Given the description of an element on the screen output the (x, y) to click on. 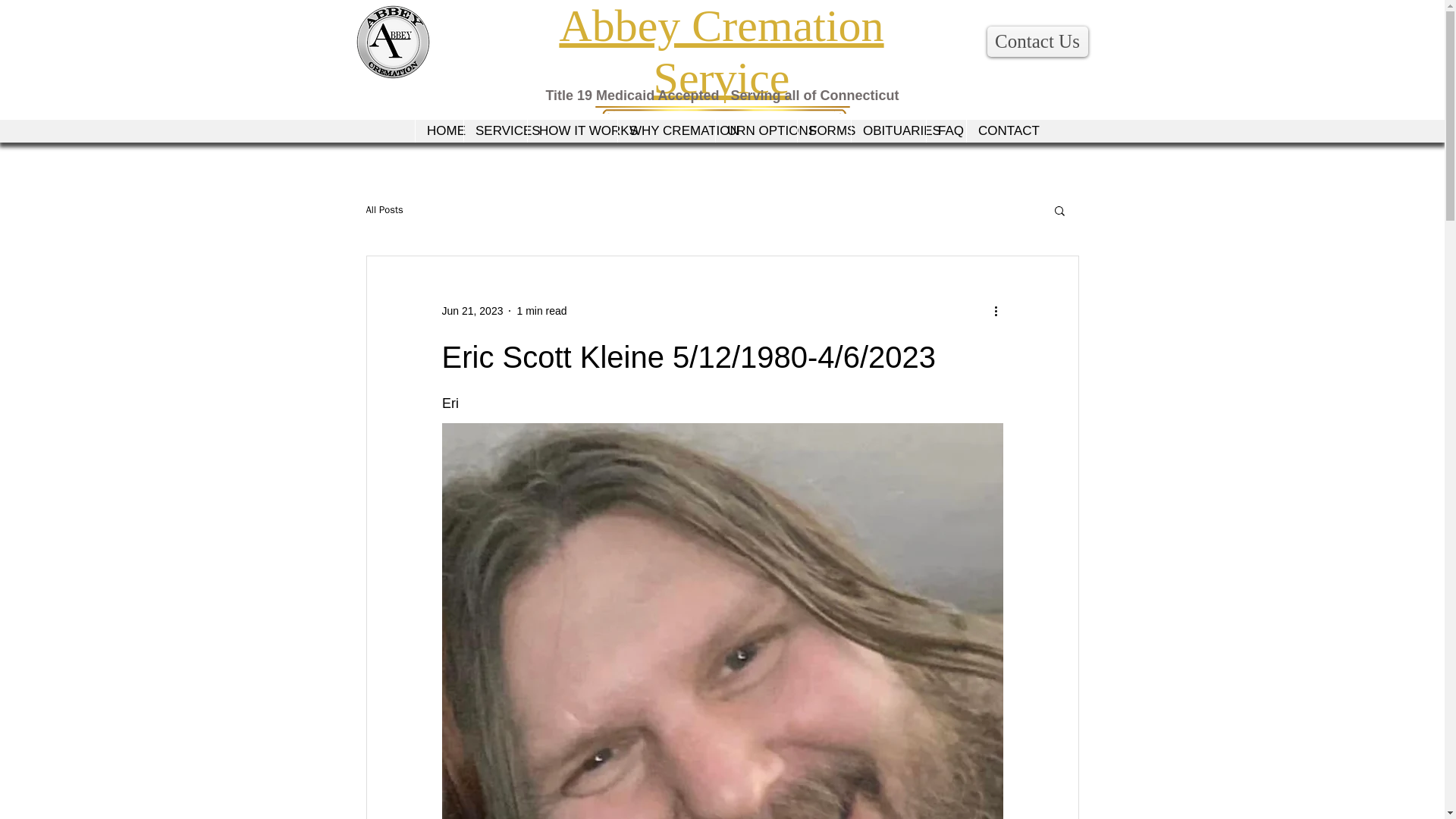
Jun 21, 2023 (471, 310)
Contact Us (1037, 41)
HOME (438, 130)
Abbey Cremation Service (721, 51)
SERVICES (495, 130)
CONTACT (997, 130)
OBITUARIES (888, 130)
1 min read (541, 310)
FORMS (823, 130)
WHY CREMATION (665, 130)
